Given the description of an element on the screen output the (x, y) to click on. 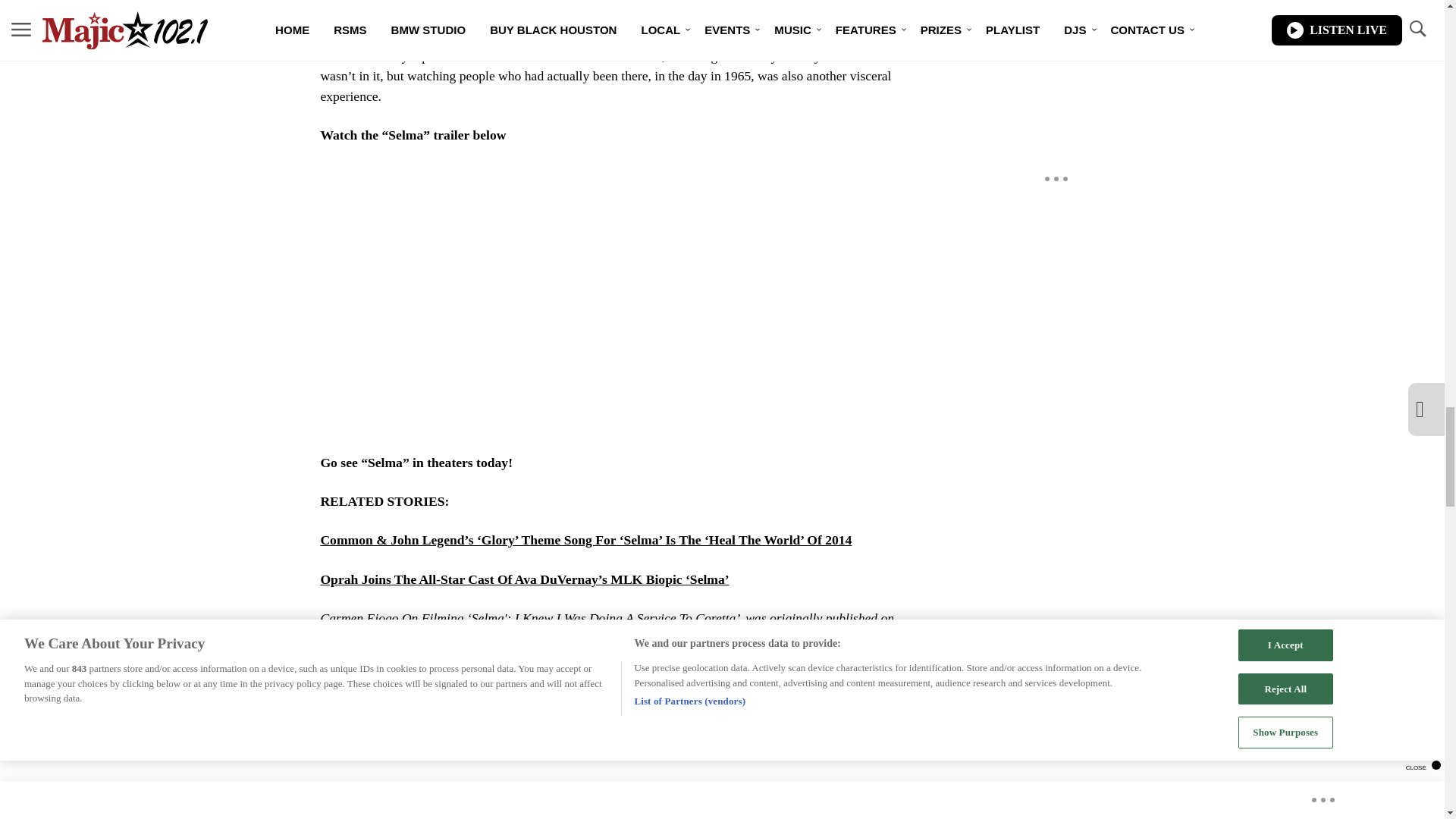
Embedded video (607, 299)
Vuukle Sharebar Widget (585, 753)
